Given the description of an element on the screen output the (x, y) to click on. 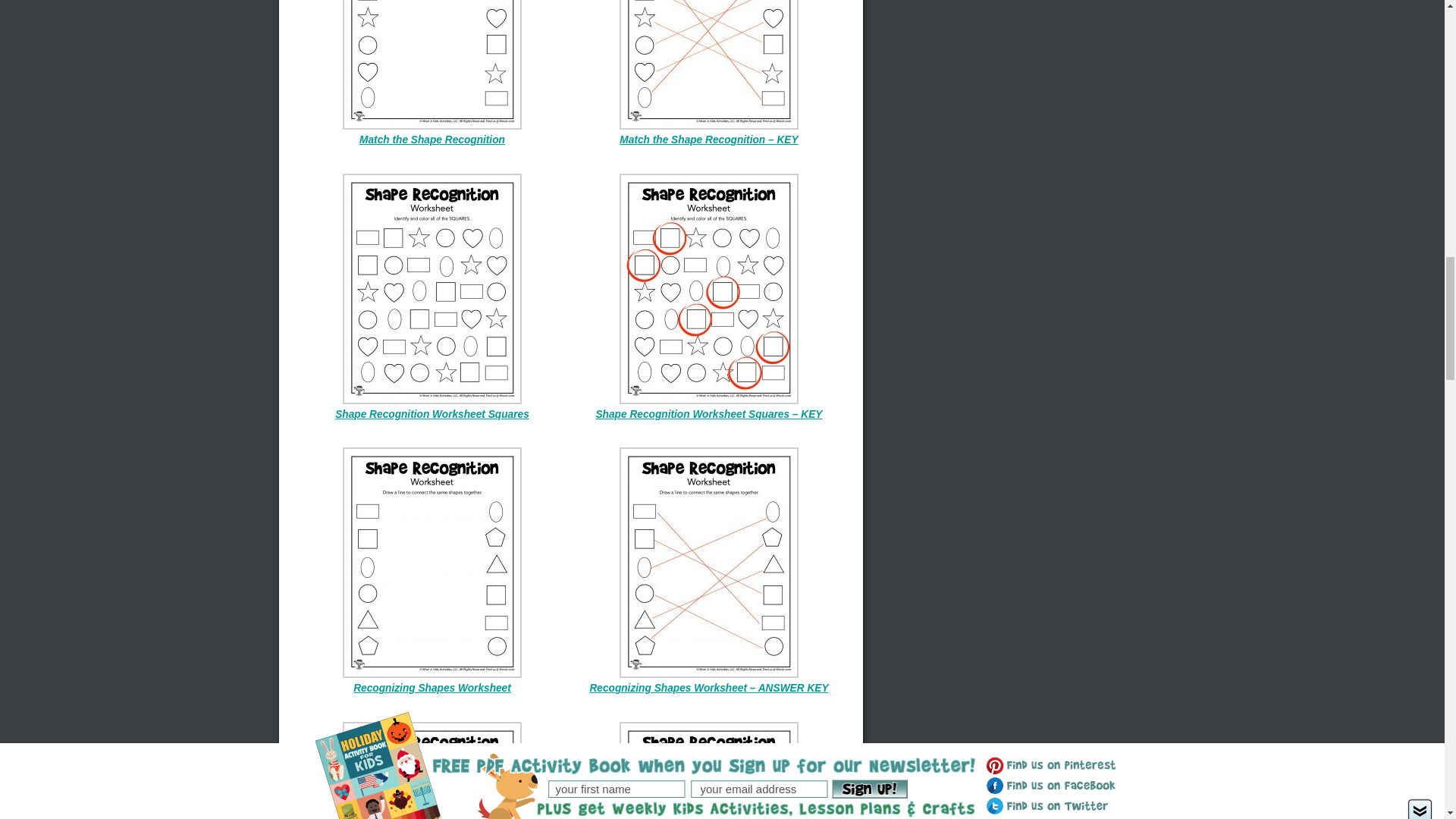
Shape Recognition Worksheet Squares (431, 414)
Recognizing Shapes Worksheet - ANSWER KEY (708, 687)
Match the Shape Recognition (432, 139)
Shape Recognition Worksheet Squares - KEY (708, 414)
Match the Shape Recognition - KEY (708, 139)
Recognizing Shapes Worksheet (432, 687)
